Given the description of an element on the screen output the (x, y) to click on. 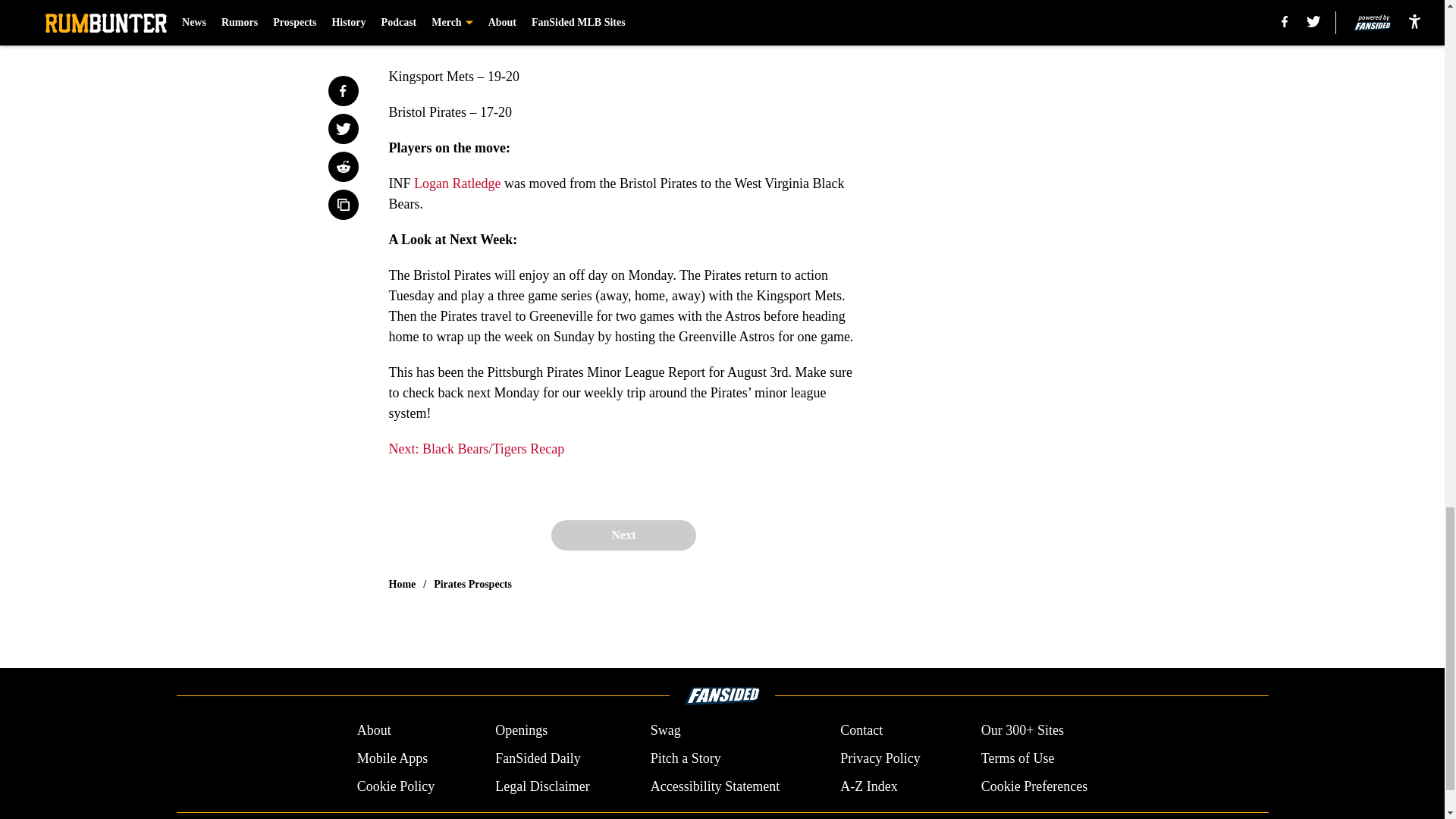
Contact (861, 730)
FanSided Daily (537, 758)
Pitch a Story (685, 758)
Openings (521, 730)
About (373, 730)
Pirates Prospects (472, 584)
Swag (665, 730)
Next (622, 535)
Home (401, 584)
Logan Ratledge (456, 183)
